Given the description of an element on the screen output the (x, y) to click on. 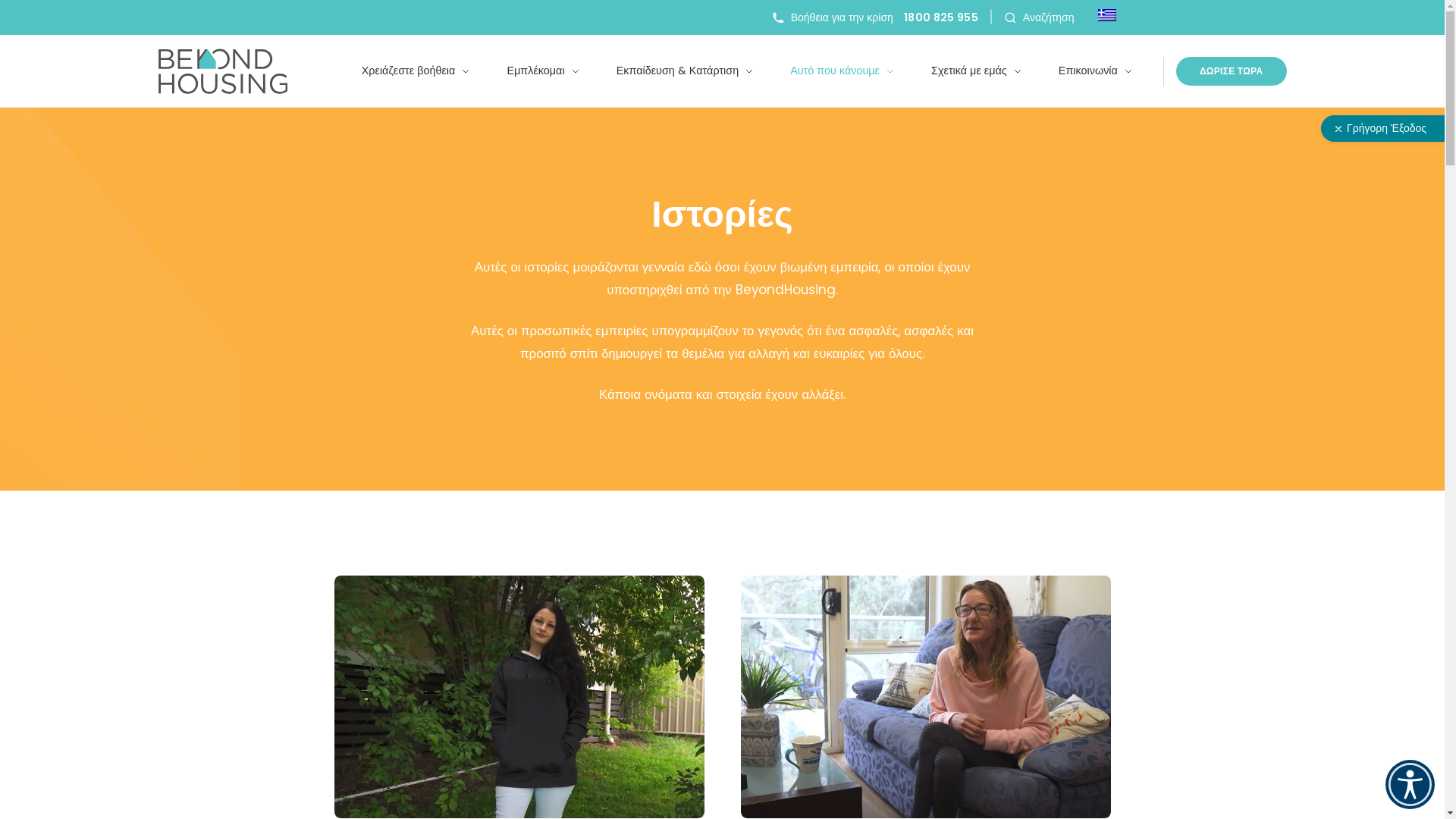
Greek Element type: hover (1105, 17)
Greek Element type: hover (1107, 15)
Search Element type: text (1126, 416)
Go to homepage Element type: text (222, 71)
